Given the description of an element on the screen output the (x, y) to click on. 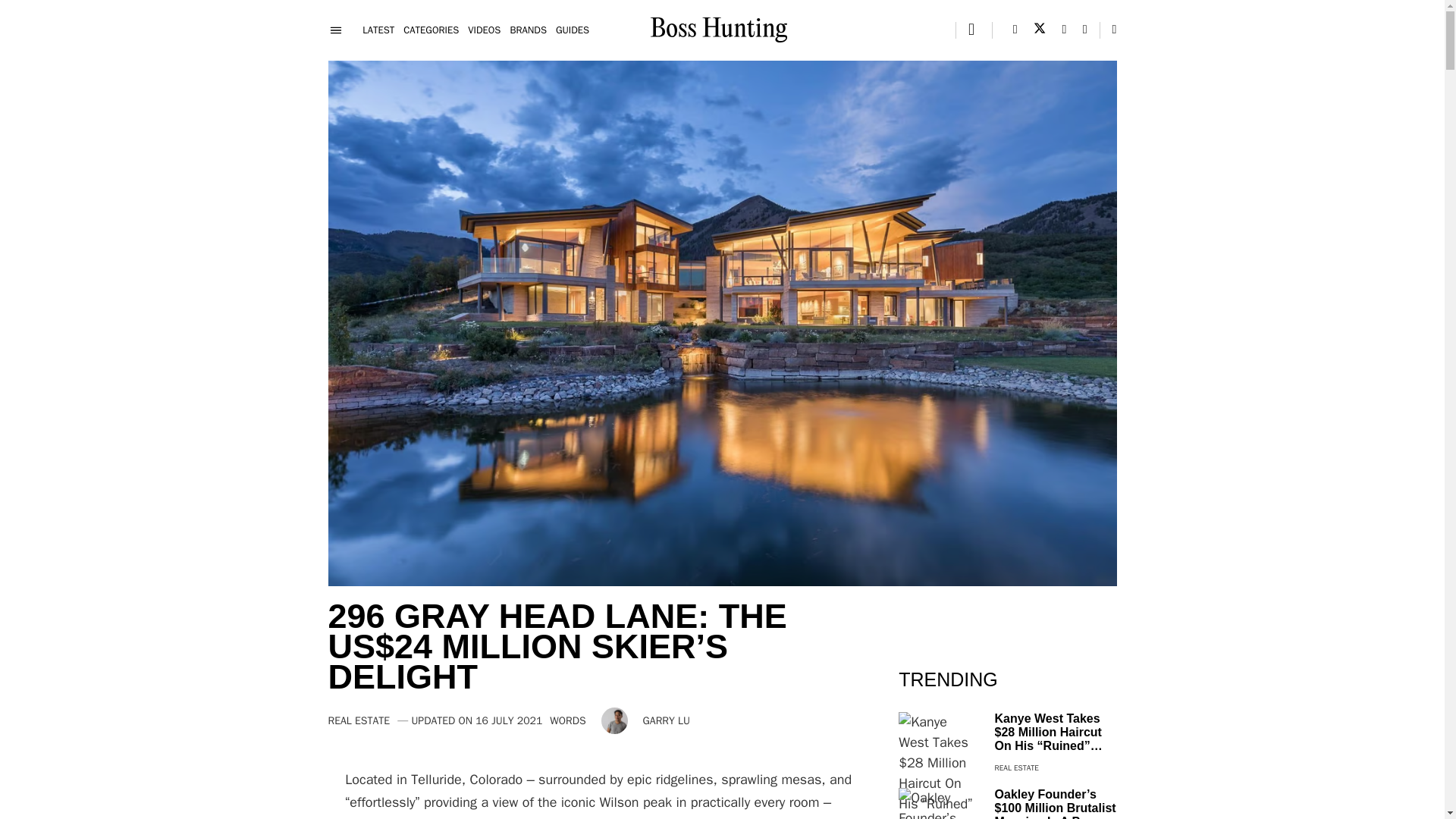
LATEST (378, 30)
CATEGORIES (430, 30)
